Given the description of an element on the screen output the (x, y) to click on. 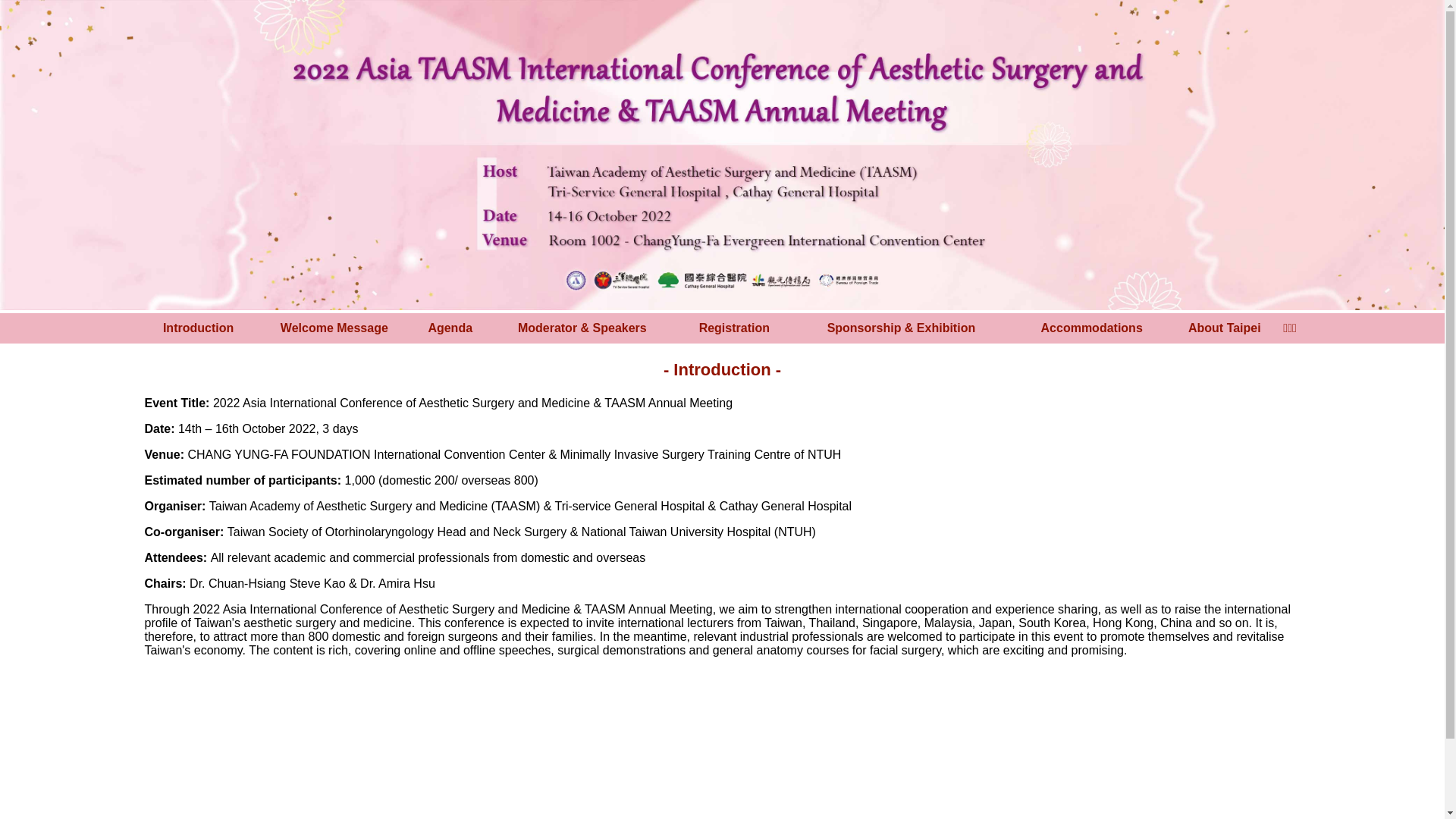
Moderator & Speakers Element type: text (581, 327)
Sponsorship & Exhibition Element type: text (901, 327)
About Taipei Element type: text (1224, 327)
Accommodations Element type: text (1091, 327)
Welcome Message Element type: text (334, 327)
Introduction Element type: text (198, 327)
Agenda Element type: text (449, 327)
Registration Element type: text (734, 327)
